Given the description of an element on the screen output the (x, y) to click on. 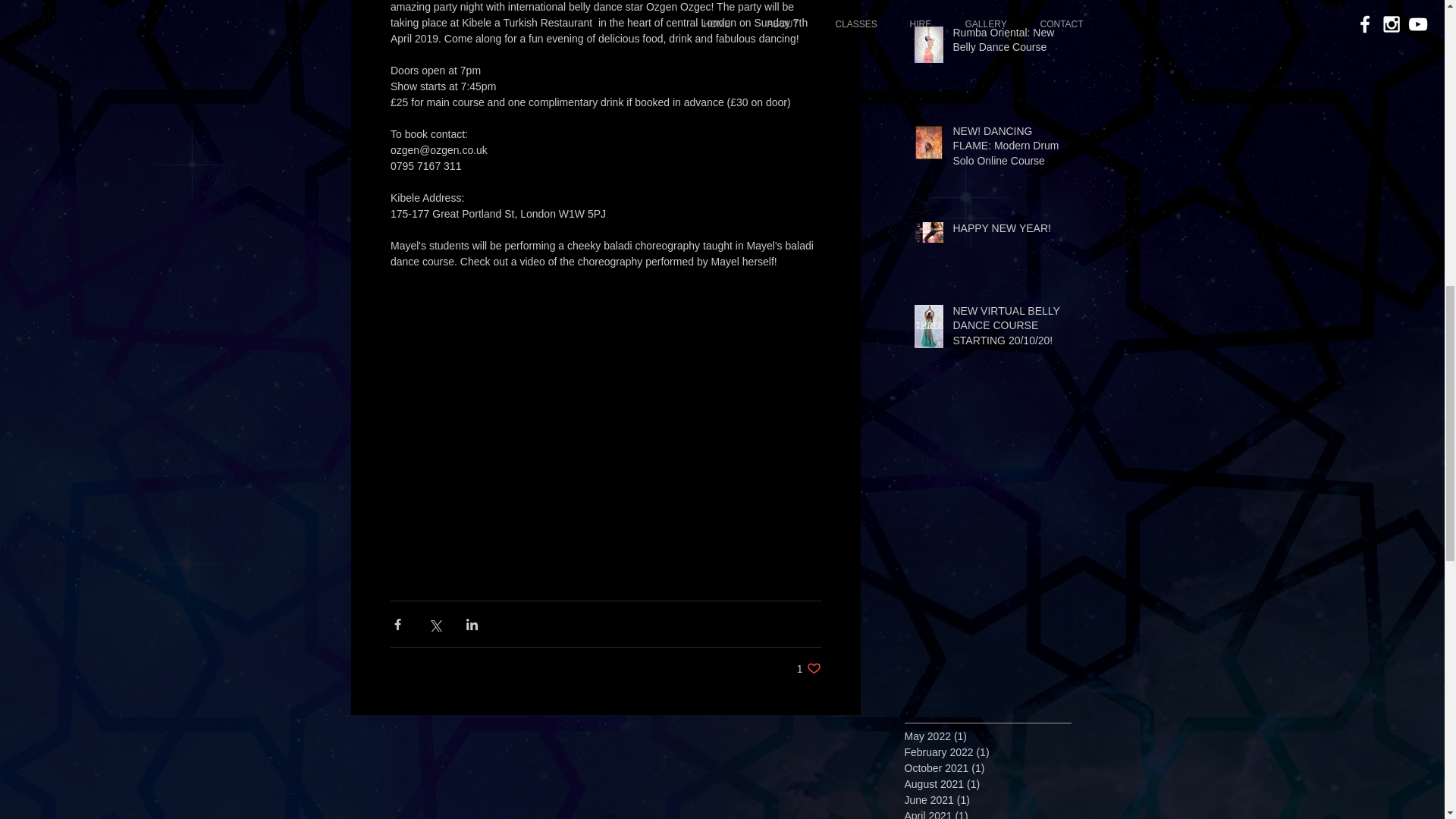
NEW! DANCING FLAME: Modern Drum Solo Online Course (1006, 149)
HAPPY NEW YEAR! (1006, 231)
Rumba Oriental: New Belly Dance Course (1006, 43)
